Given the description of an element on the screen output the (x, y) to click on. 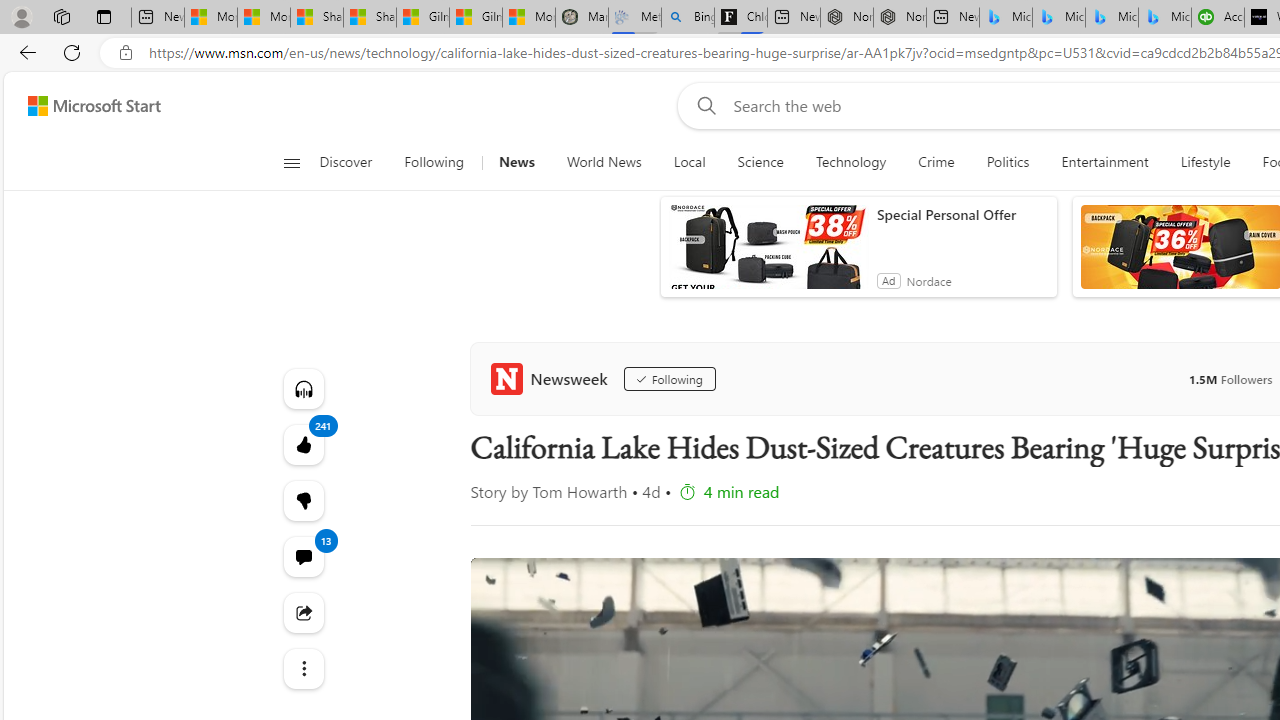
News (516, 162)
Science (760, 162)
Web search (702, 105)
Special Personal Offer (962, 214)
Entertainment (1105, 162)
Nordace - #1 Japanese Best-Seller - Siena Smart Backpack (899, 17)
Entertainment (1104, 162)
Skip to footer (82, 105)
Chloe Sorvino (740, 17)
World News (603, 162)
View comments 13 Comment (302, 556)
Crime (936, 162)
241 Like (302, 444)
